Given the description of an element on the screen output the (x, y) to click on. 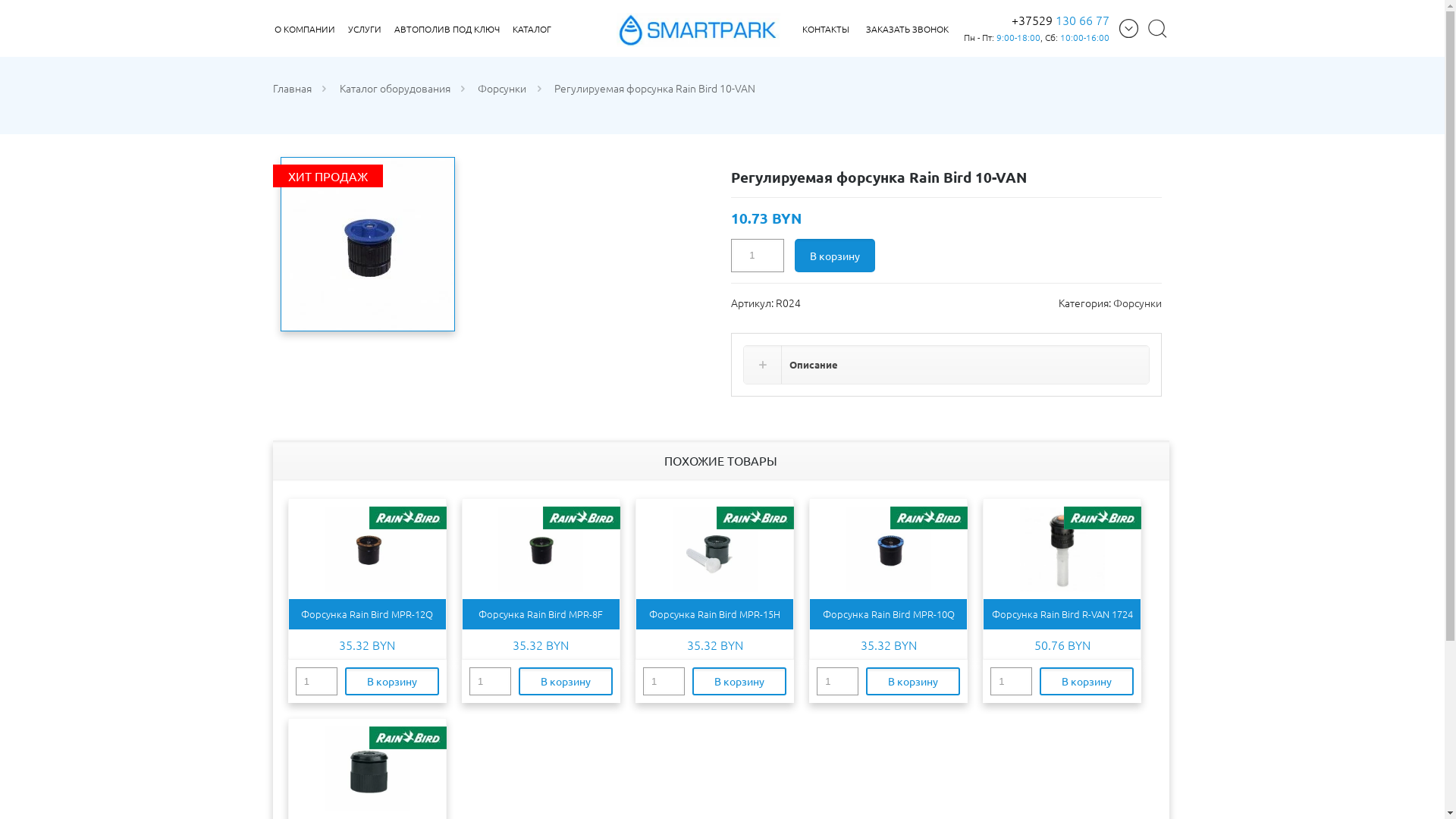
+37529 130 66 77 Element type: text (1060, 19)
